Given the description of an element on the screen output the (x, y) to click on. 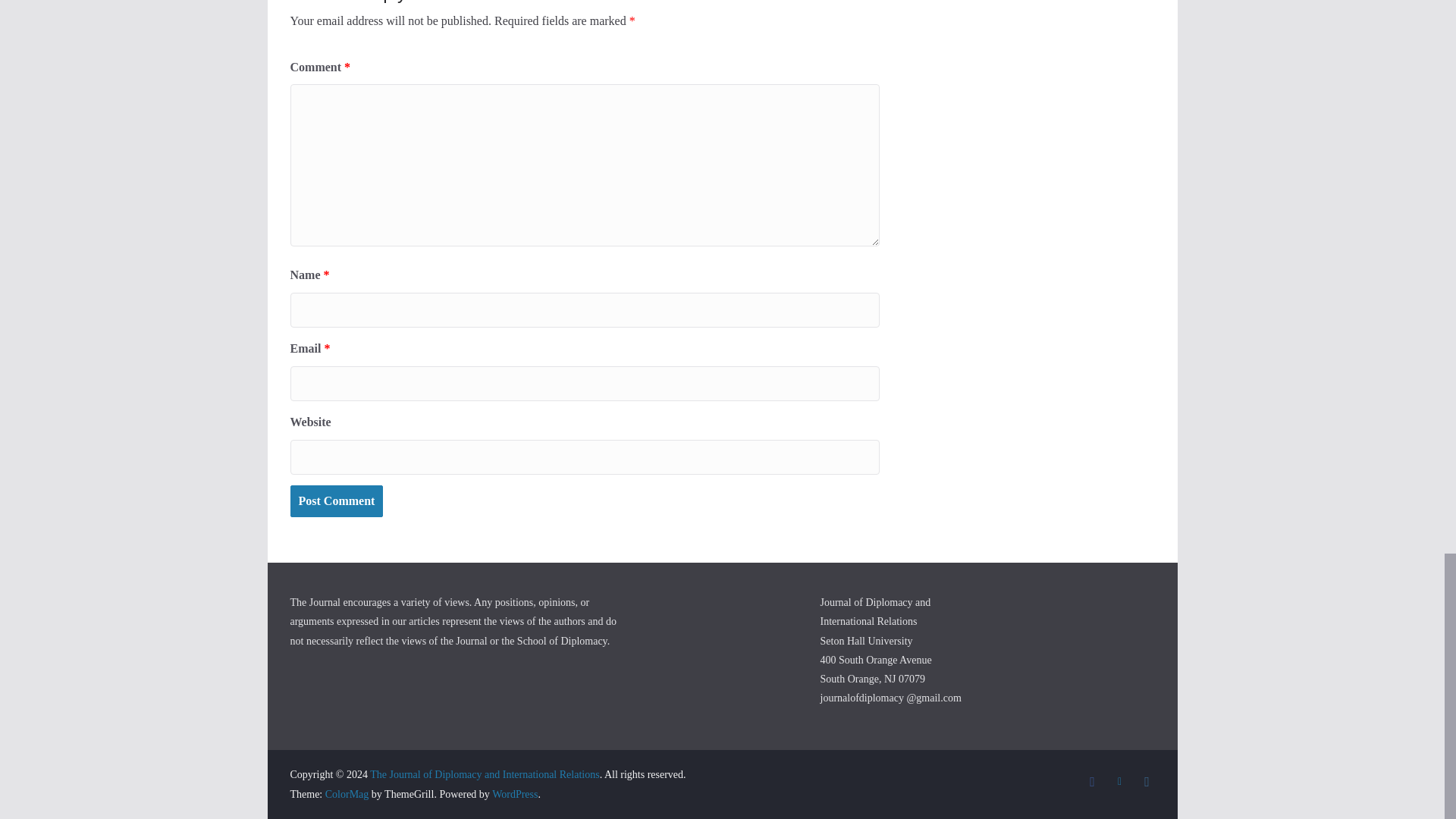
Post Comment (335, 500)
